Given the description of an element on the screen output the (x, y) to click on. 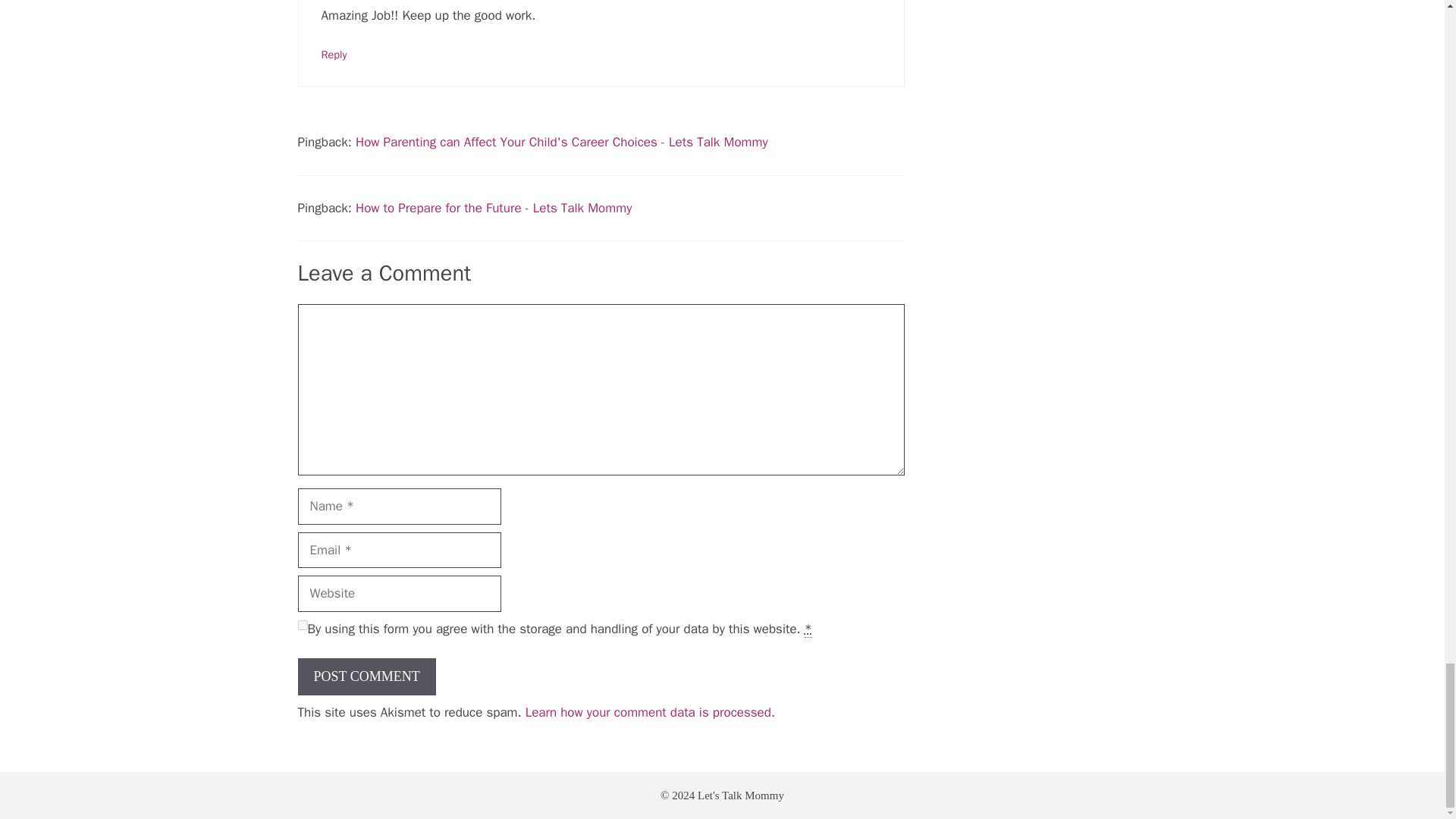
Post Comment (366, 676)
How to Prepare for the Future - Lets Talk Mommy (493, 207)
Reply (334, 54)
